Given the description of an element on the screen output the (x, y) to click on. 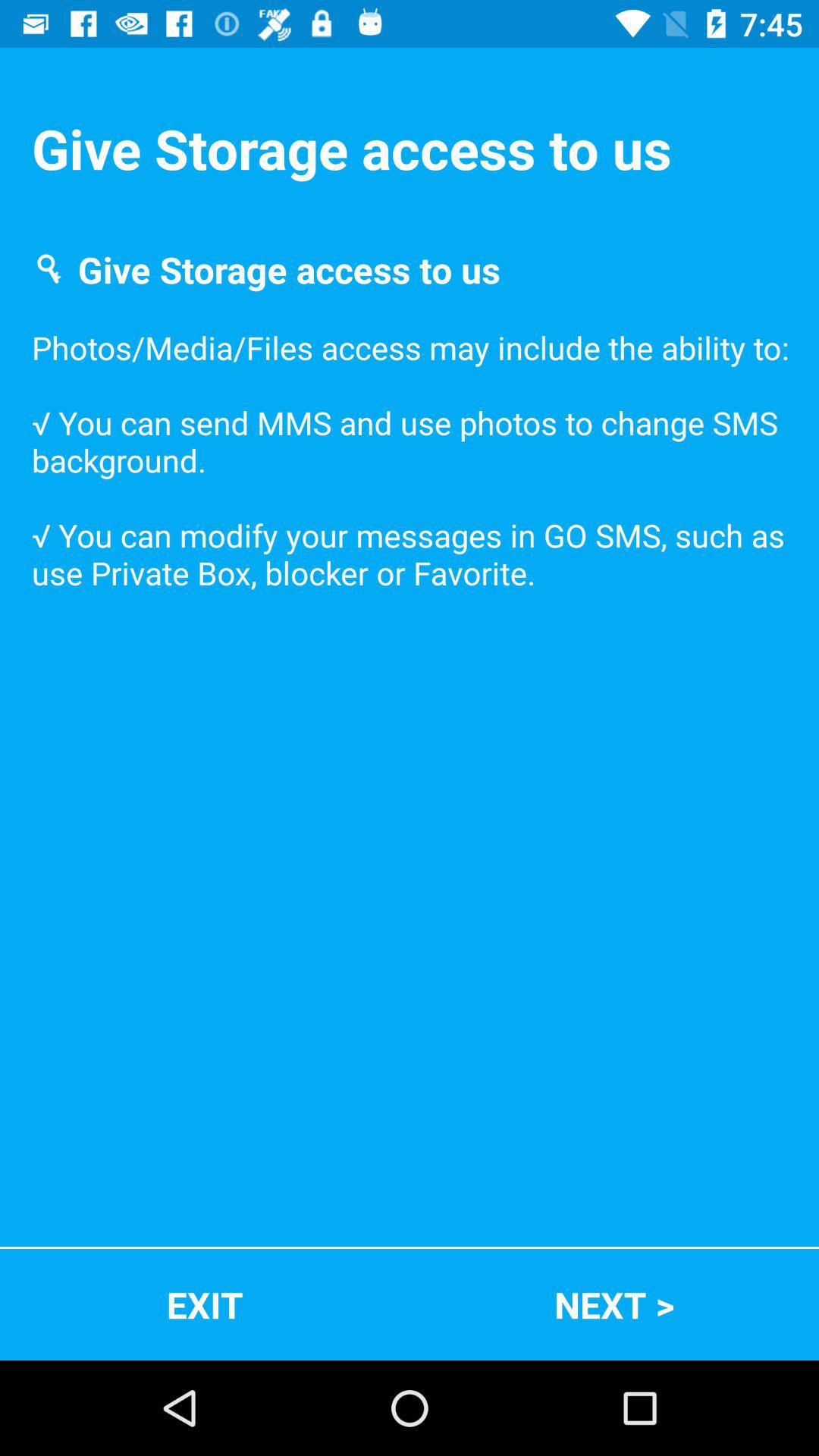
choose the icon next to next > (204, 1304)
